Given the description of an element on the screen output the (x, y) to click on. 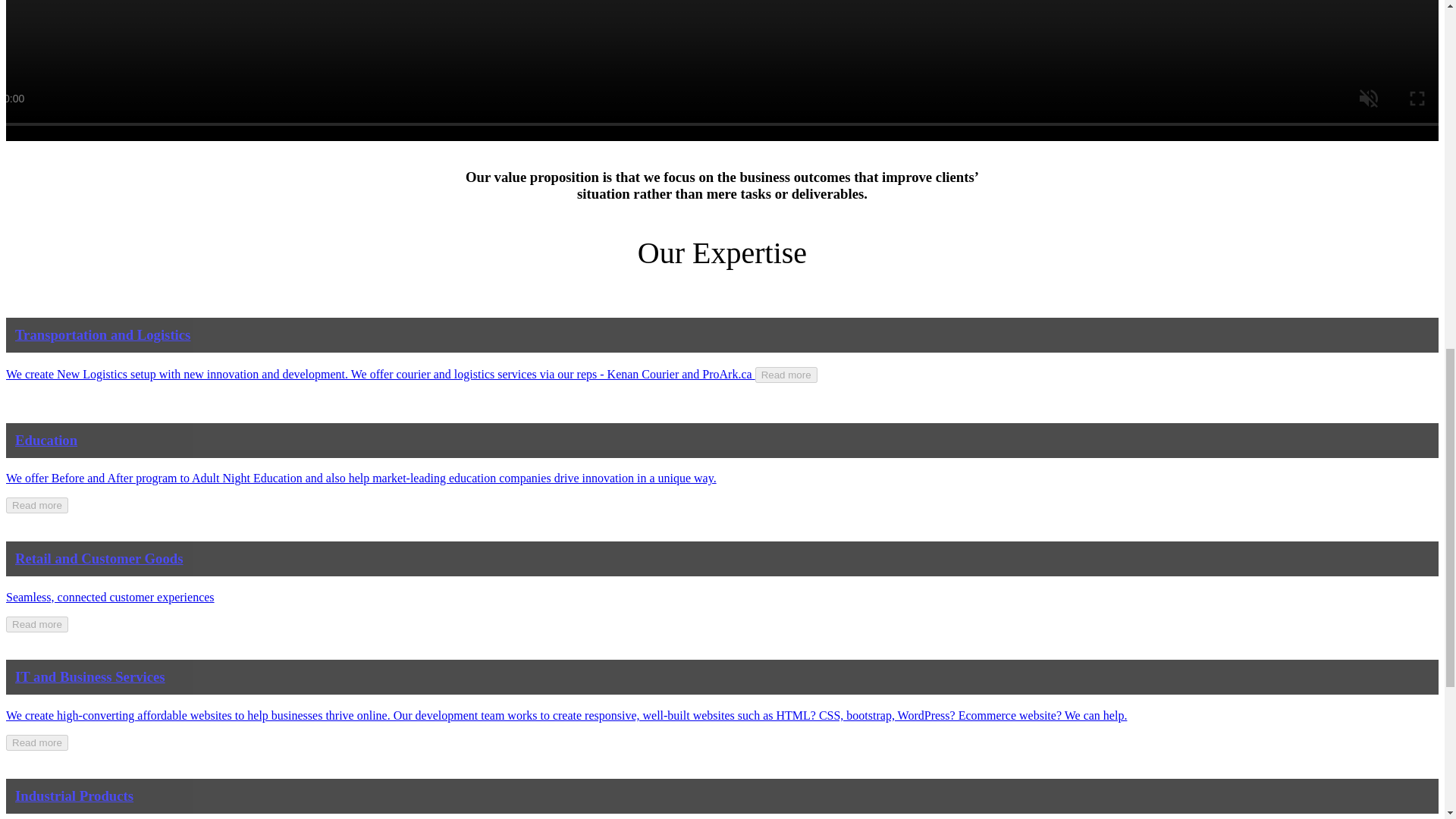
Read more (785, 374)
Read more (36, 742)
Read more (36, 624)
Read more (36, 505)
